Given the description of an element on the screen output the (x, y) to click on. 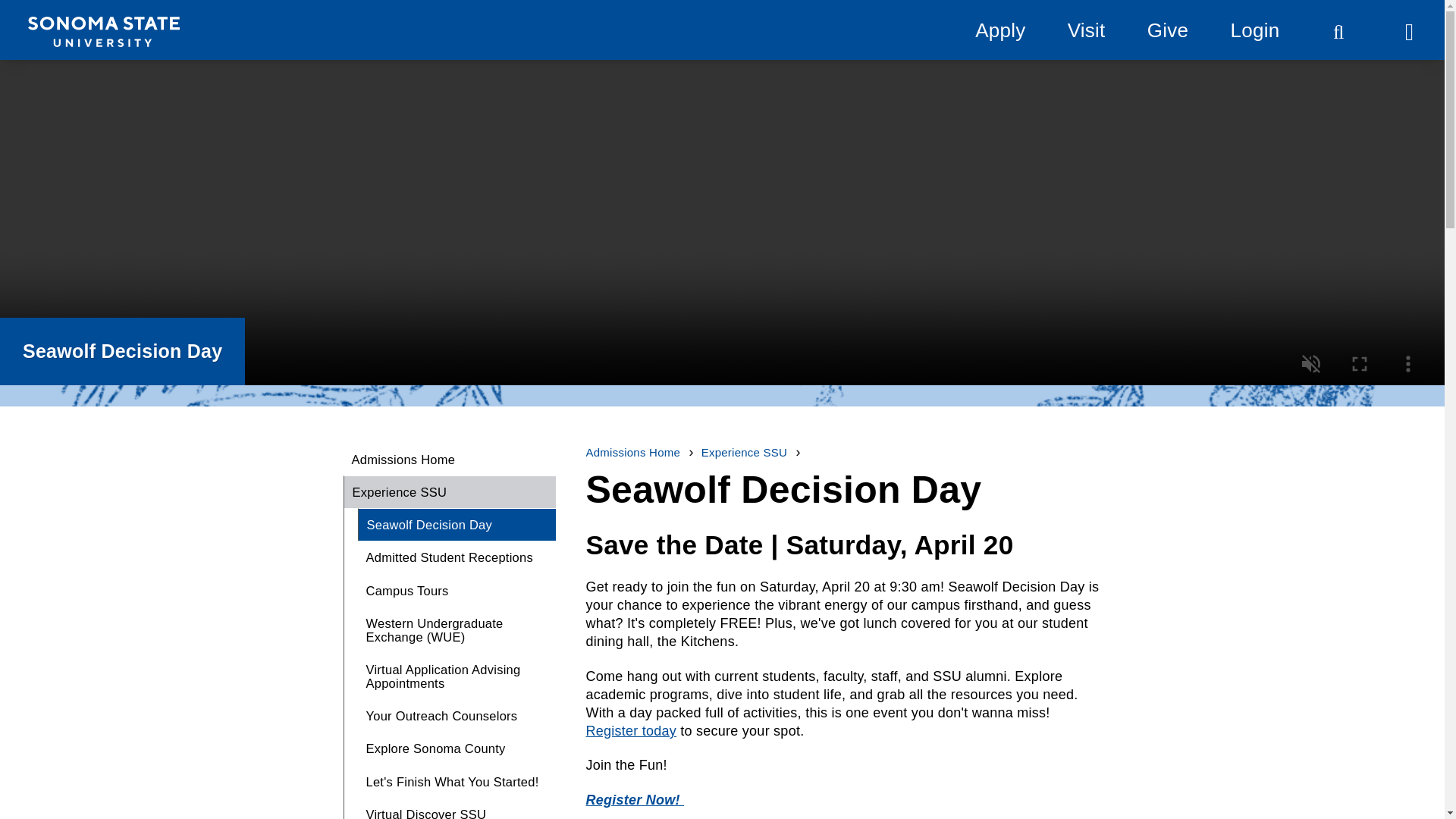
Login (1254, 30)
Jump to navigation (77, 19)
Visit (1086, 30)
Give (1167, 30)
Apply (1000, 30)
